Given the description of an element on the screen output the (x, y) to click on. 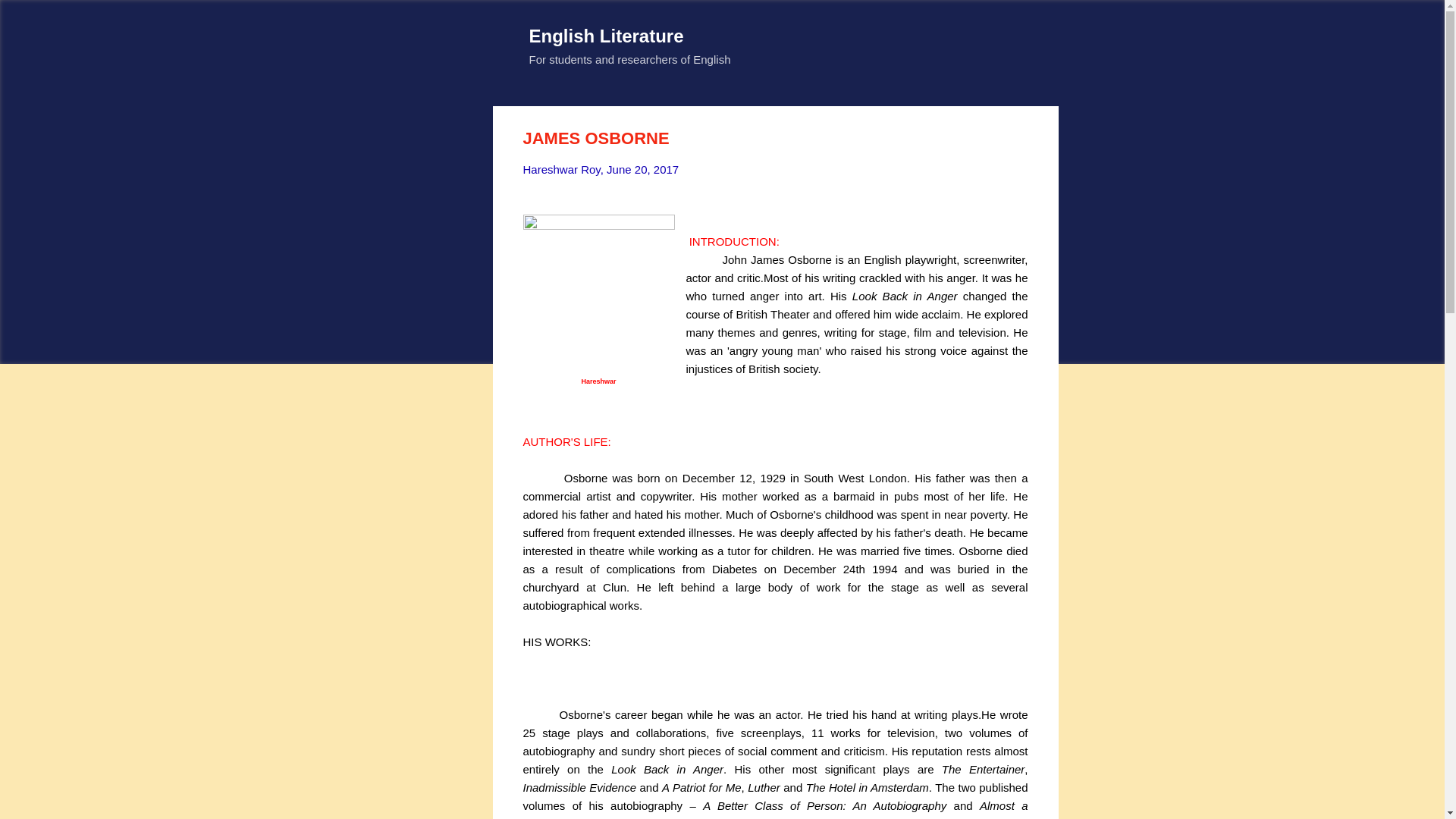
English Literature (606, 35)
June 20, 2017 (642, 169)
permanent link (642, 169)
Search (29, 18)
